Given the description of an element on the screen output the (x, y) to click on. 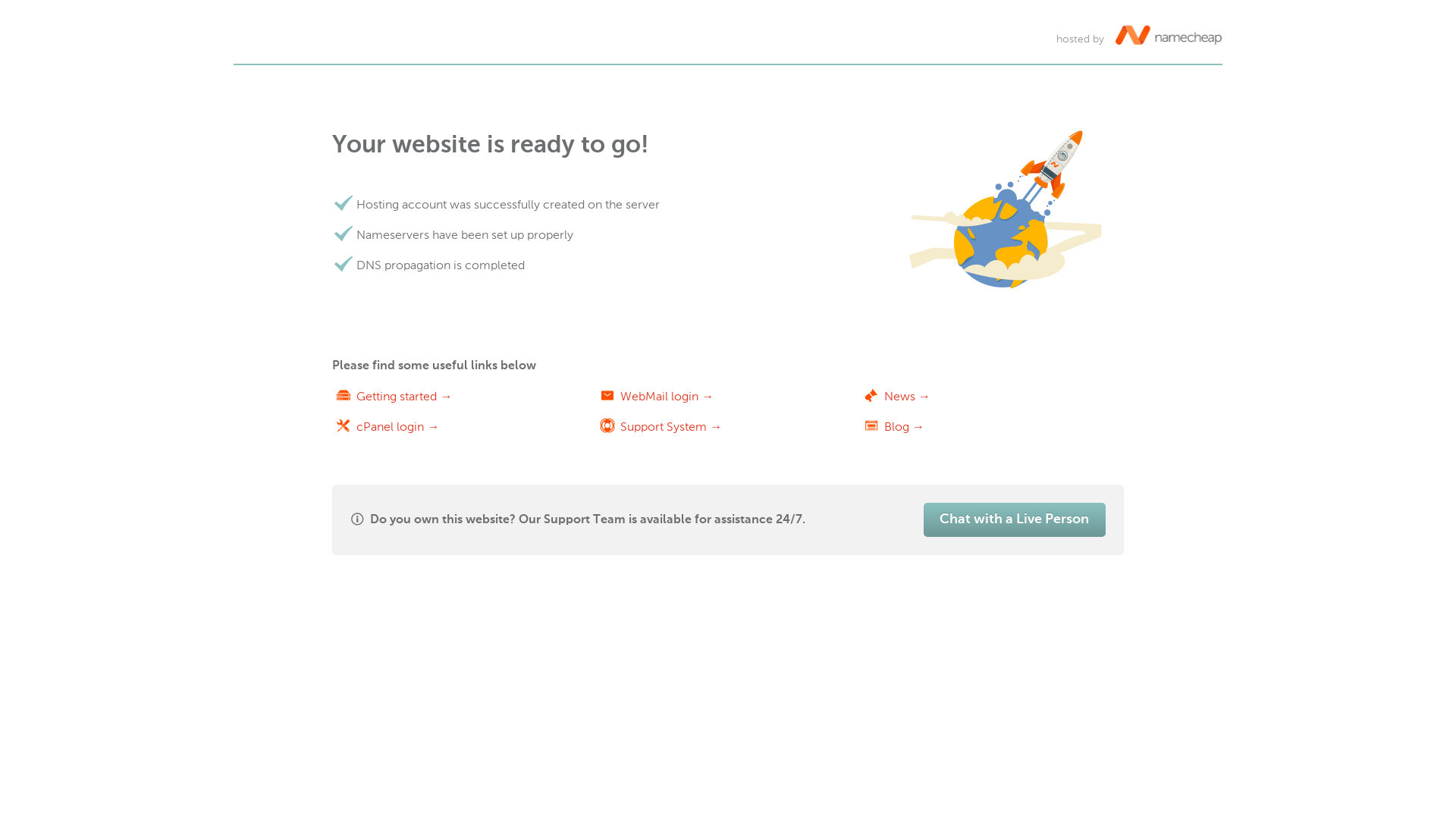
Chat with a Live Person Element type: text (1014, 519)
